Given the description of an element on the screen output the (x, y) to click on. 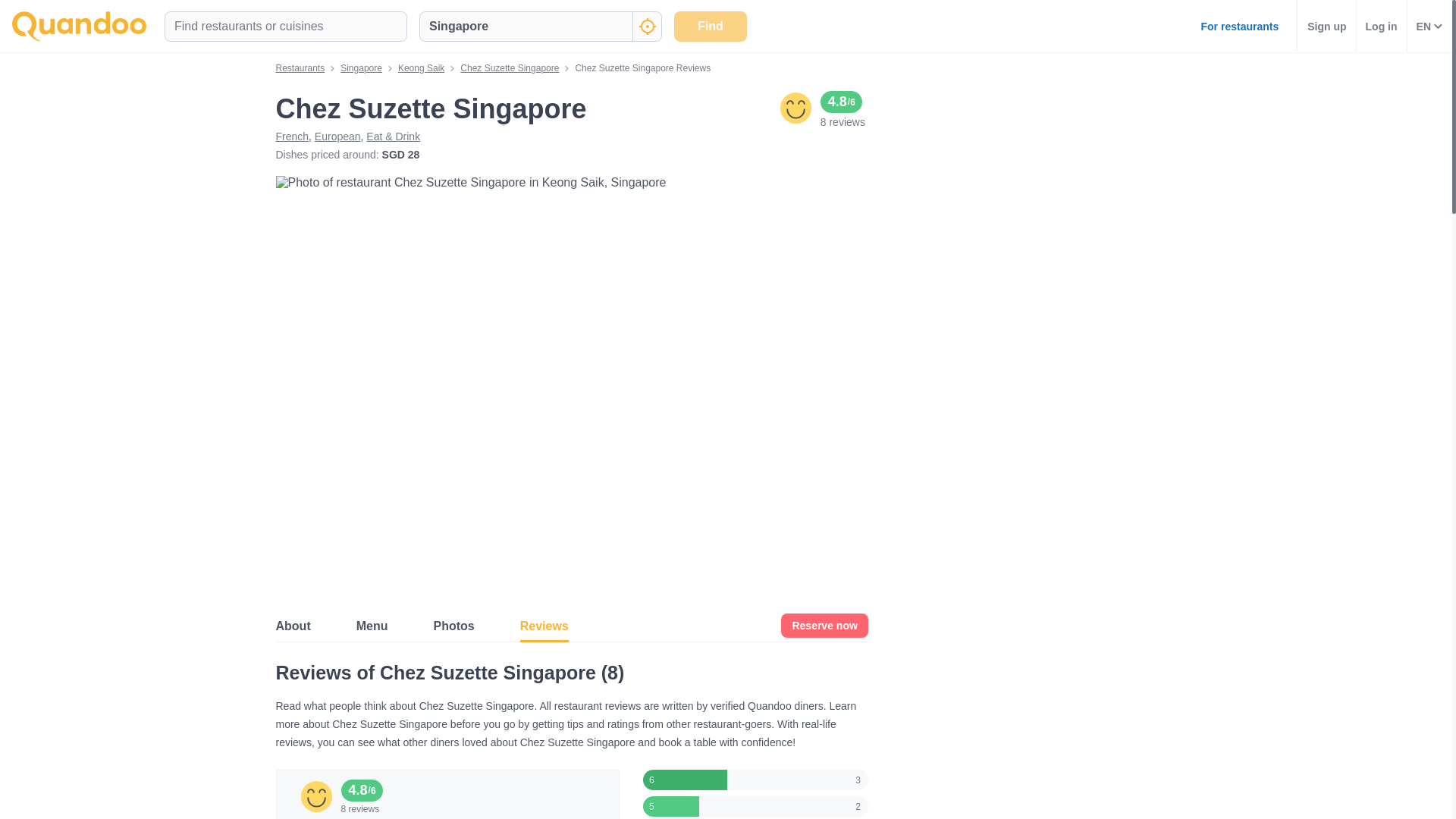
French (292, 136)
Restaurants (300, 68)
Reviews (544, 625)
About (293, 625)
8 reviews (842, 122)
Sign up (1326, 25)
Singapore (360, 68)
Photos (453, 625)
Keong Saik (420, 68)
Log in (1381, 25)
Find (710, 25)
Chez Suzette Singapore (509, 68)
European (337, 136)
For restaurants (1239, 25)
Menu (372, 625)
